Given the description of an element on the screen output the (x, y) to click on. 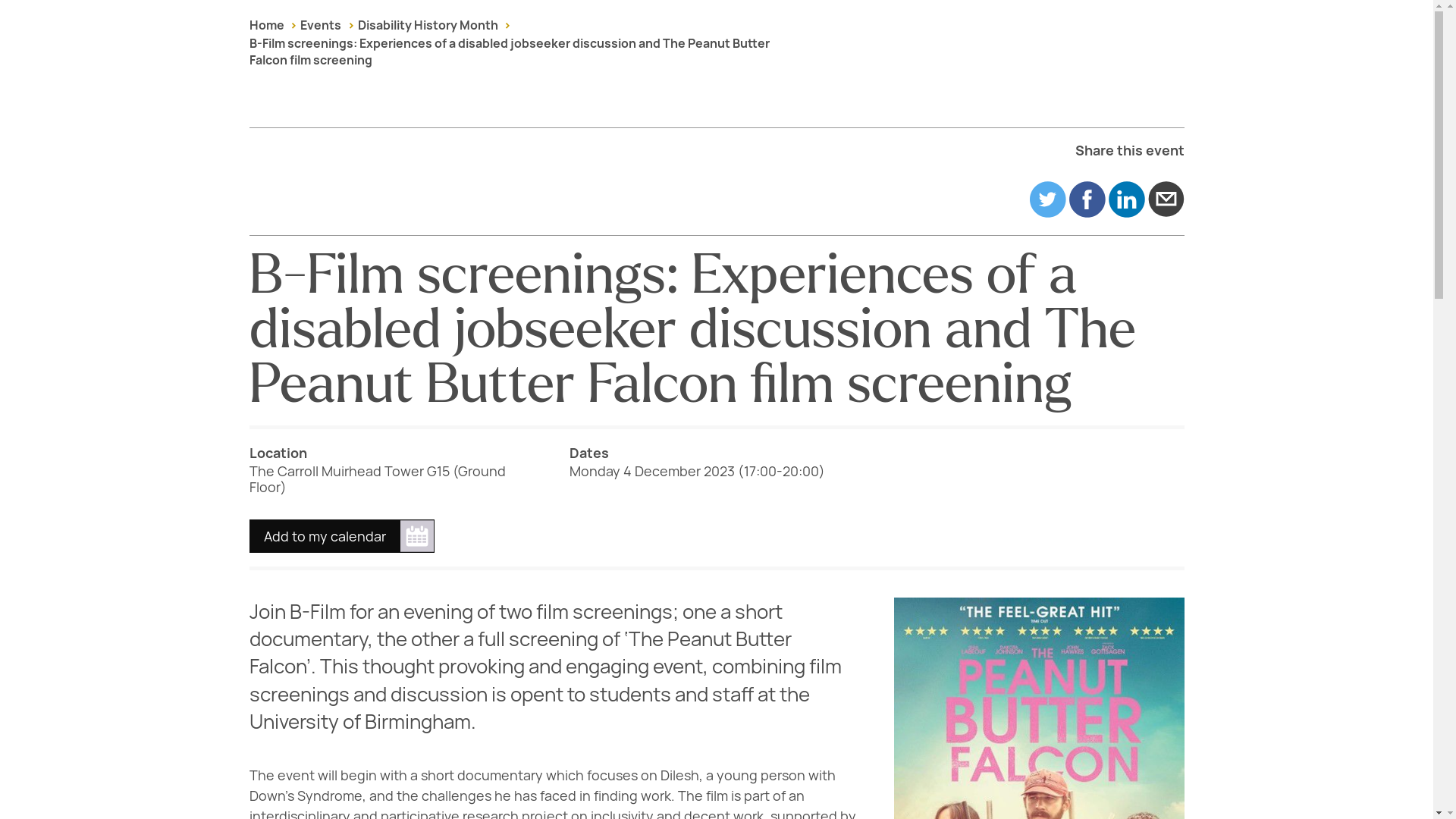
Share on linkedin (1126, 198)
Home (265, 25)
Share on facebook (1086, 198)
Share on Facebook (1086, 198)
Disability History Month (427, 25)
Events (319, 25)
Share on email (1166, 198)
Share in LinkedIn (1126, 198)
Add to my calendar (340, 535)
Share on Twitter (1047, 198)
Share on Twitter (1047, 198)
